Given the description of an element on the screen output the (x, y) to click on. 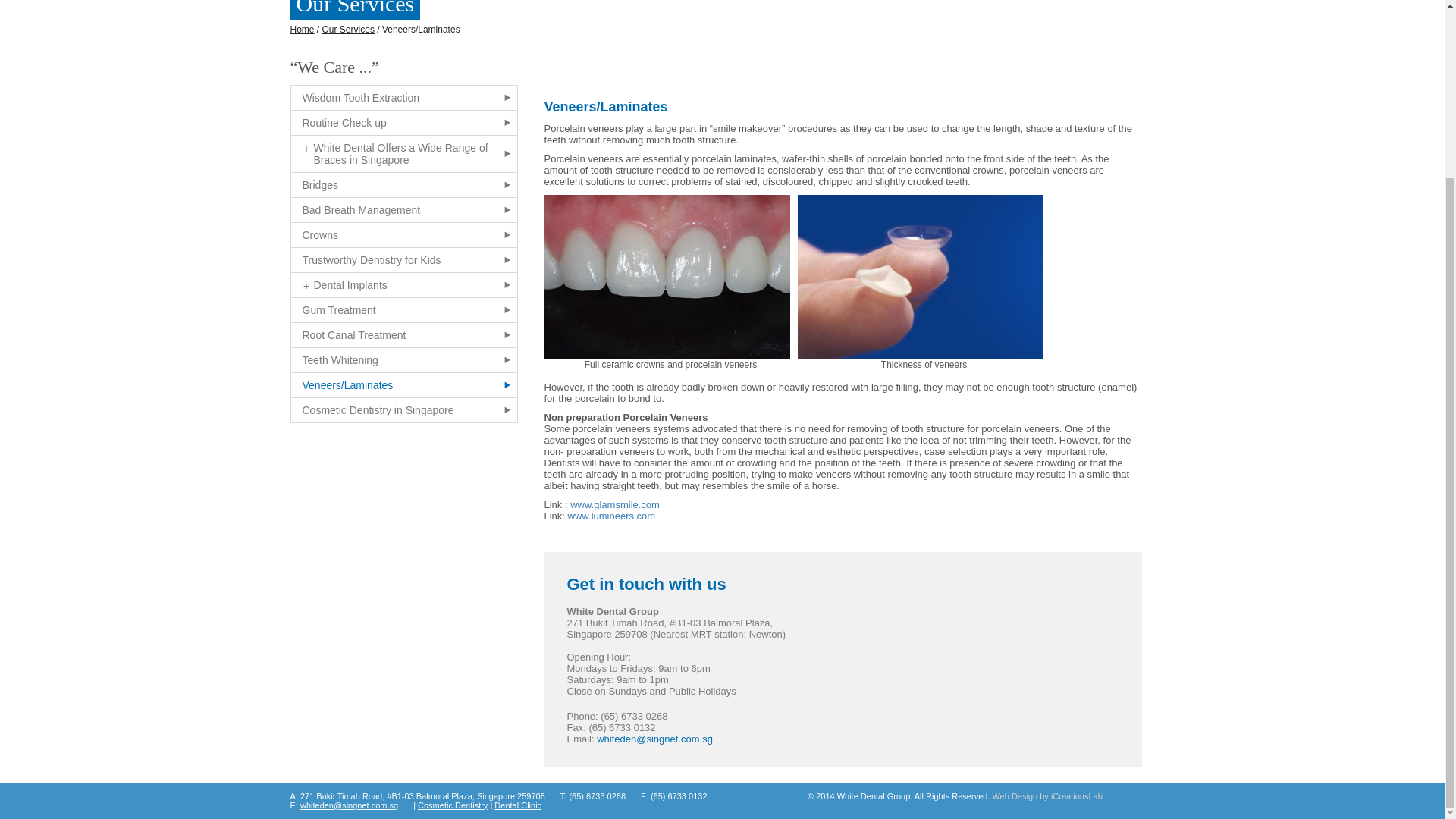
Dental Clinic (518, 804)
Home (301, 29)
Go to Our Services. (347, 29)
Cosmetic Dentistry in Singapore (403, 410)
Bridges (403, 184)
Bad Breath Management (403, 209)
Teeth Whitening (403, 360)
Dental Implants (403, 284)
Crowns (403, 234)
Go to White Dental Group. (301, 29)
Trustworthy Dentistry for Kids (403, 259)
Web Design by iCreationsLab (1046, 795)
Wisdom Tooth Extraction (403, 97)
White Dental Offers a Wide Range of Braces in Singapore (403, 153)
Gum Treatment (403, 310)
